Given the description of an element on the screen output the (x, y) to click on. 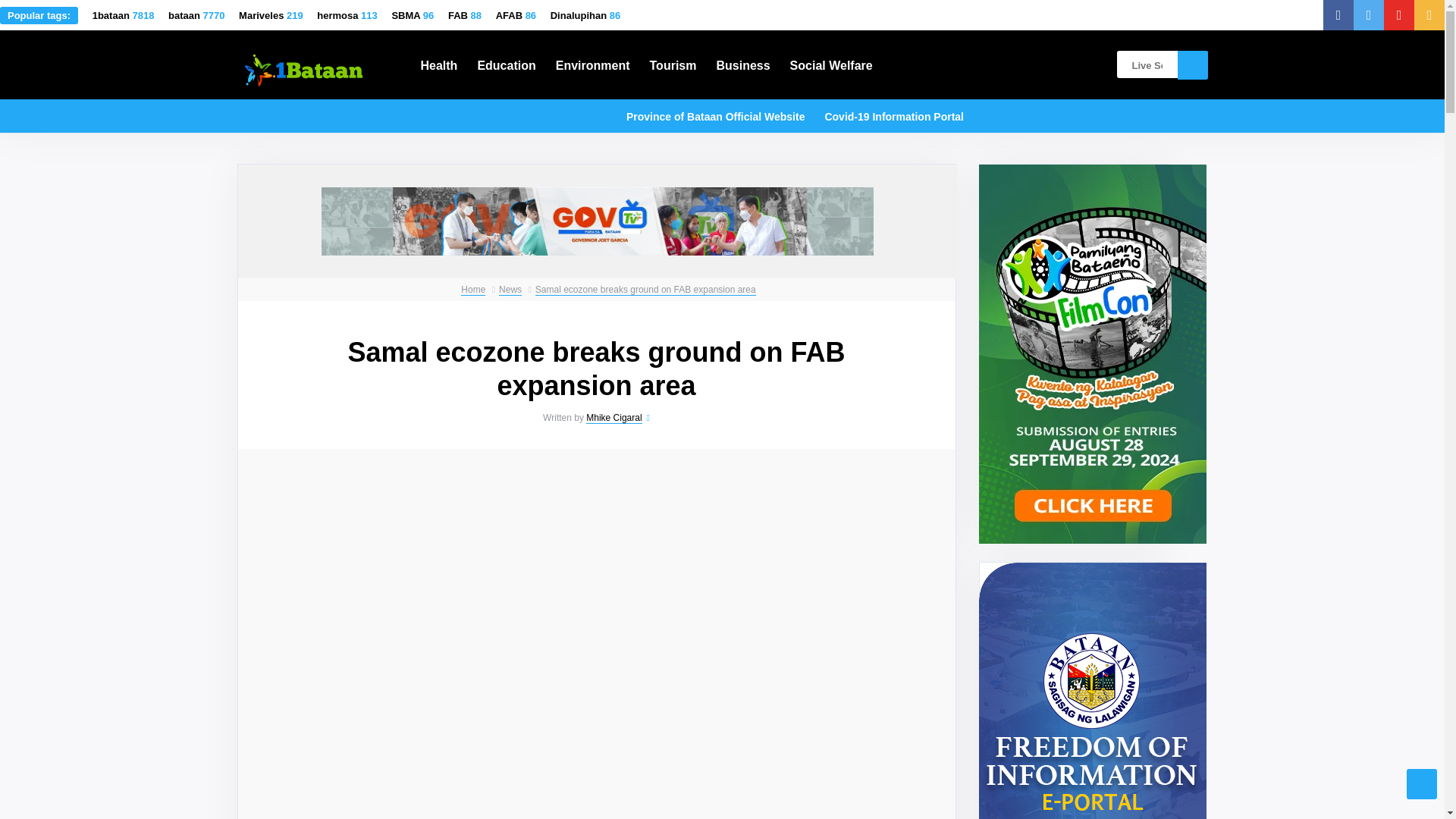
Health (438, 64)
bataan 7770 (196, 15)
Mariveles 219 (270, 15)
AFAB 86 (515, 15)
Social Welfare (831, 64)
SBMA 96 (412, 15)
Home (472, 289)
1bataan 7818 (123, 15)
Covid-19 Information Portal (893, 115)
Search (1191, 64)
